Given the description of an element on the screen output the (x, y) to click on. 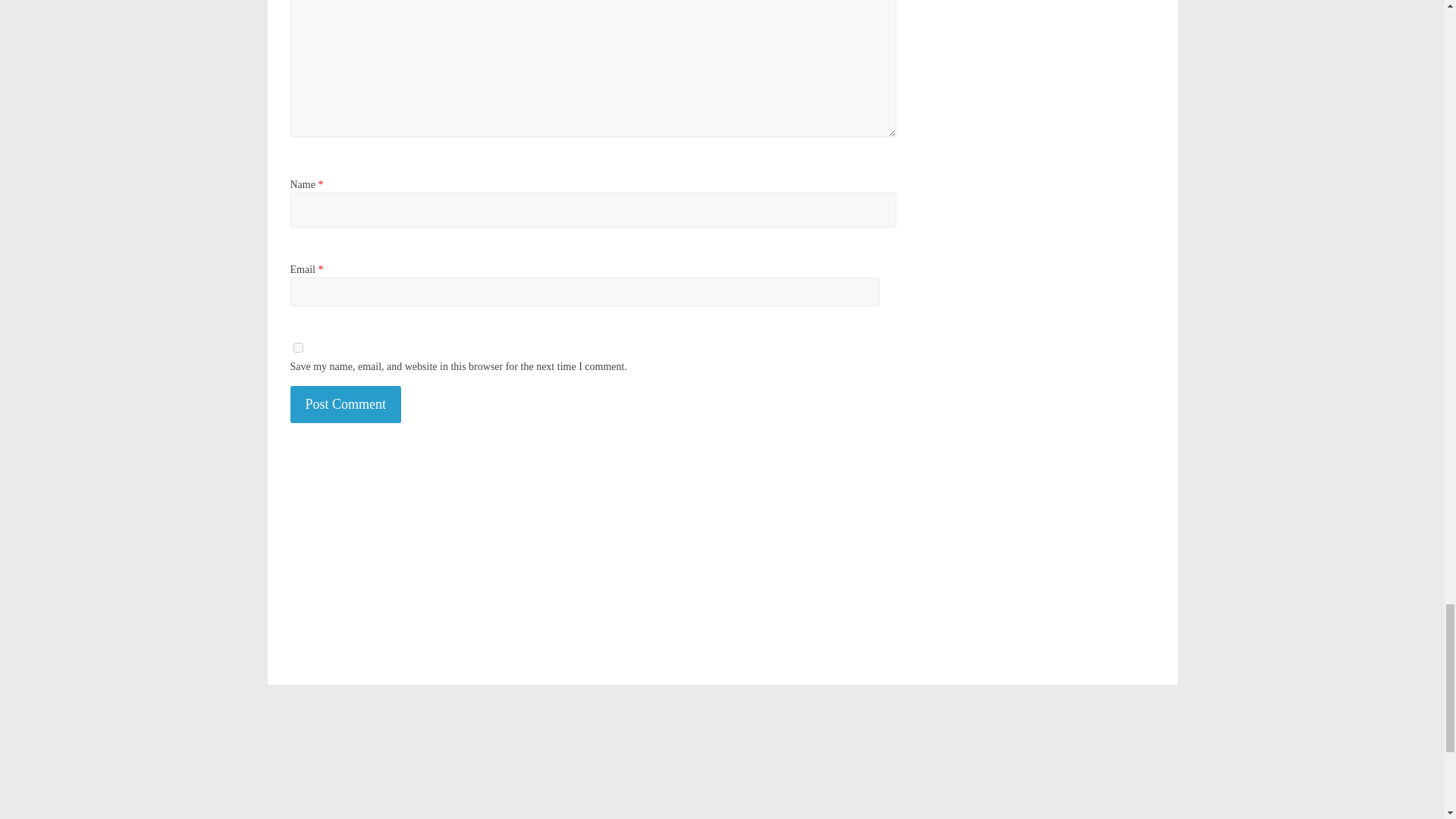
Post Comment (345, 404)
yes (297, 347)
Post Comment (345, 404)
